Given the description of an element on the screen output the (x, y) to click on. 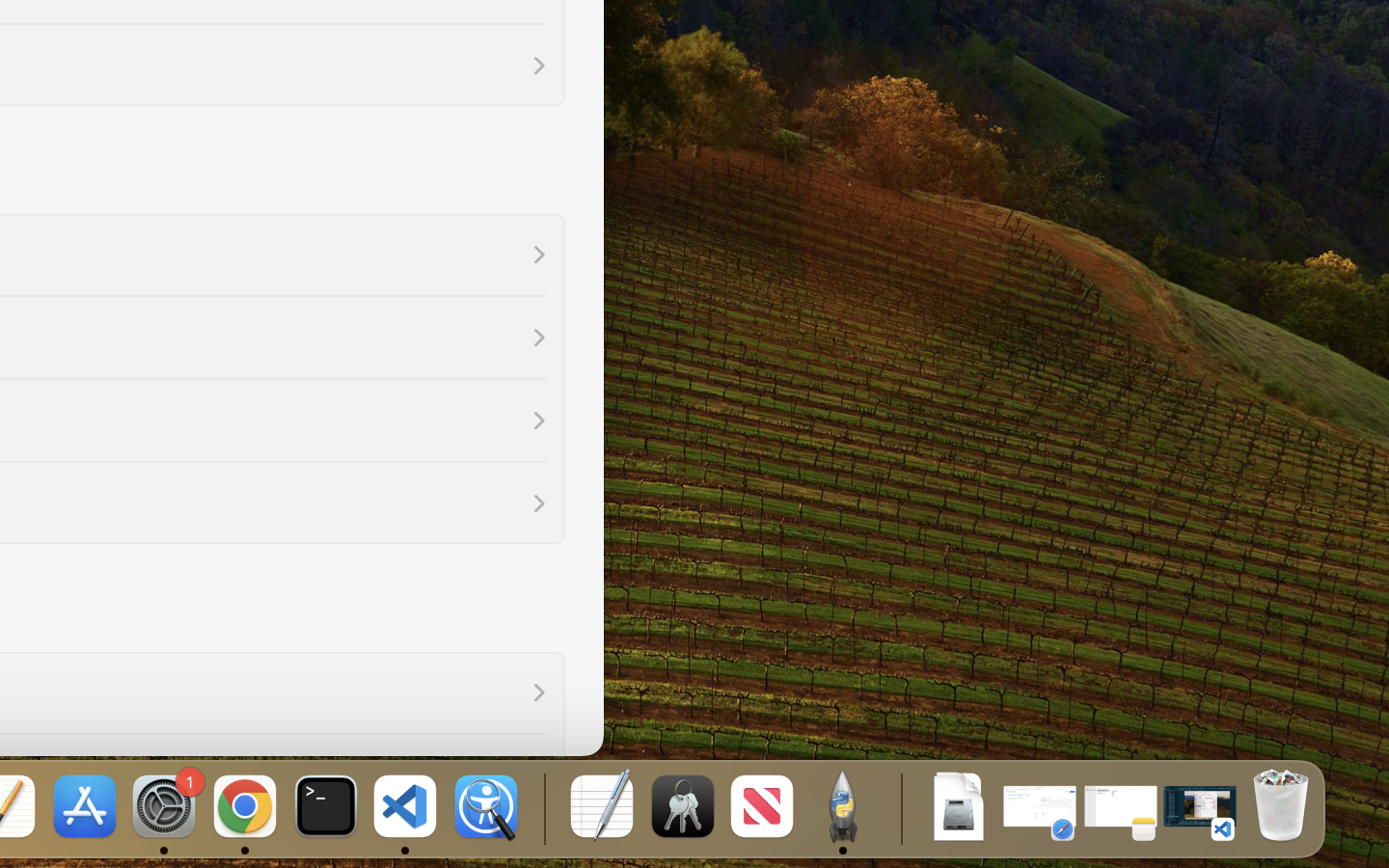
0.4285714328289032 Element type: AXDockItem (541, 807)
